Given the description of an element on the screen output the (x, y) to click on. 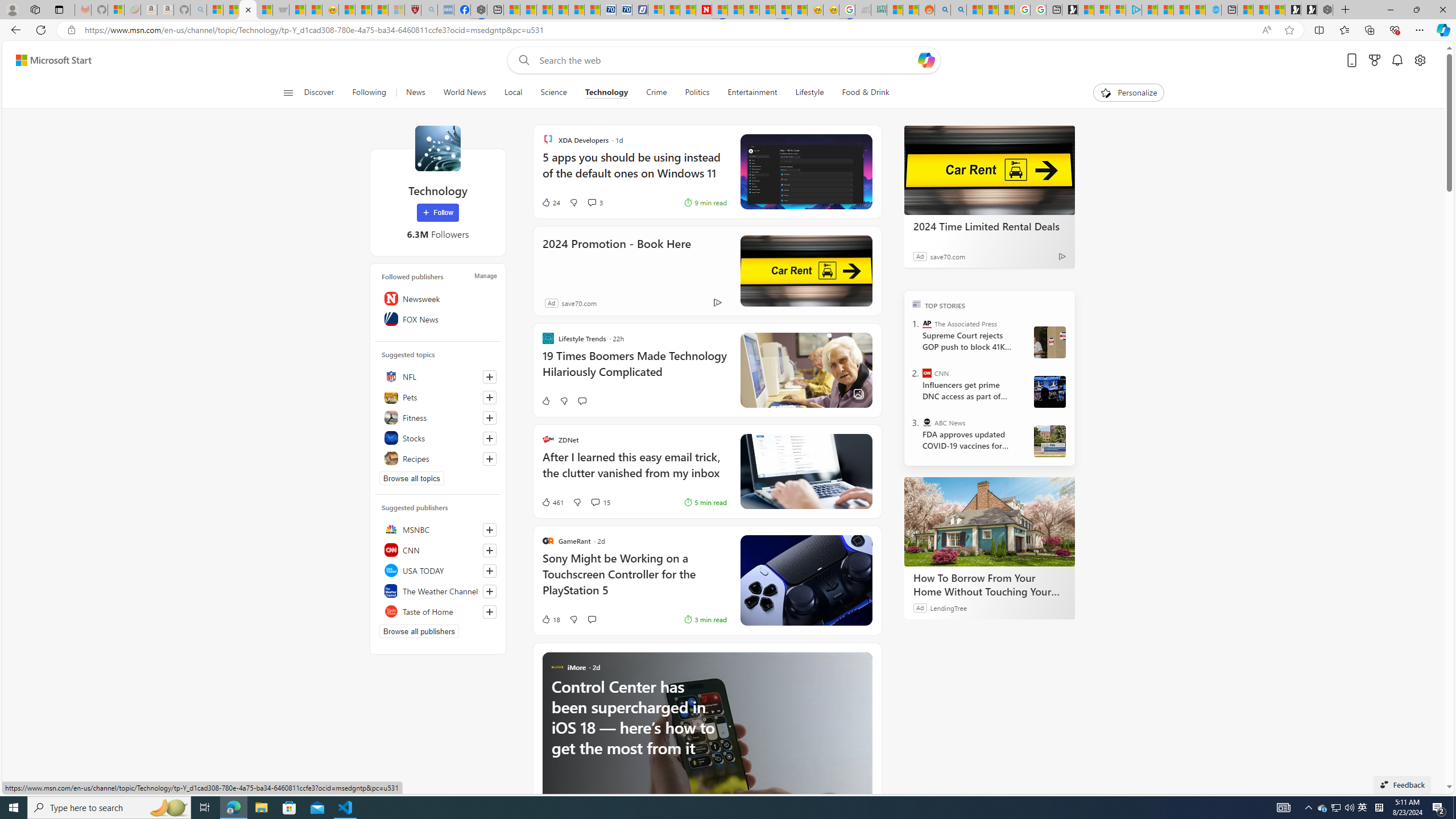
Stocks (437, 437)
FOX News (437, 318)
12 Popular Science Lies that Must be Corrected - Sleeping (395, 9)
Browse all topics (412, 477)
